Given the description of an element on the screen output the (x, y) to click on. 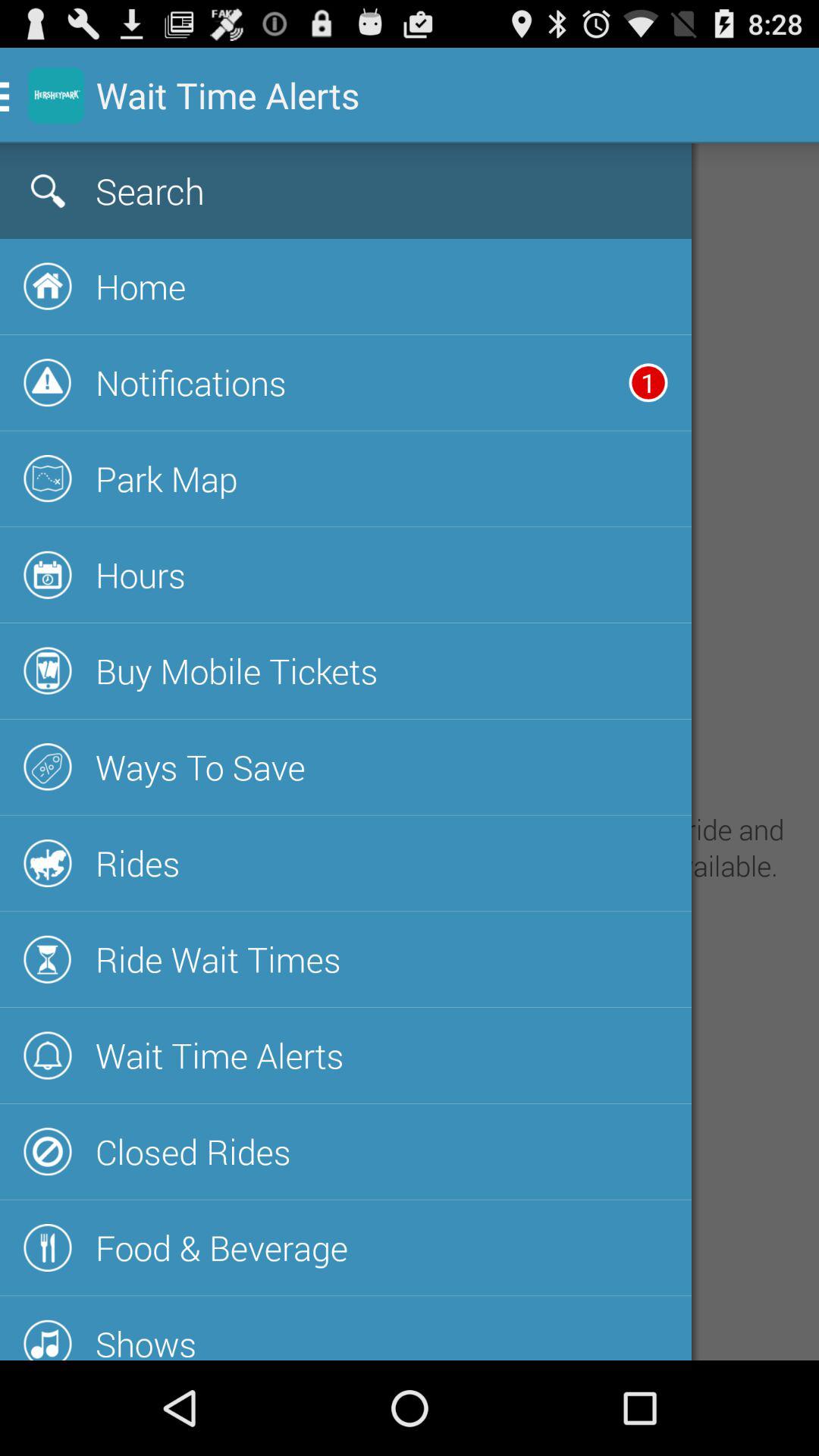
click on the search icon (48, 191)
click on the search option (299, 191)
click on the icon beside ways to save (48, 766)
click on the icon beside rides (48, 863)
click on the button beside the text home (48, 287)
